Given the description of an element on the screen output the (x, y) to click on. 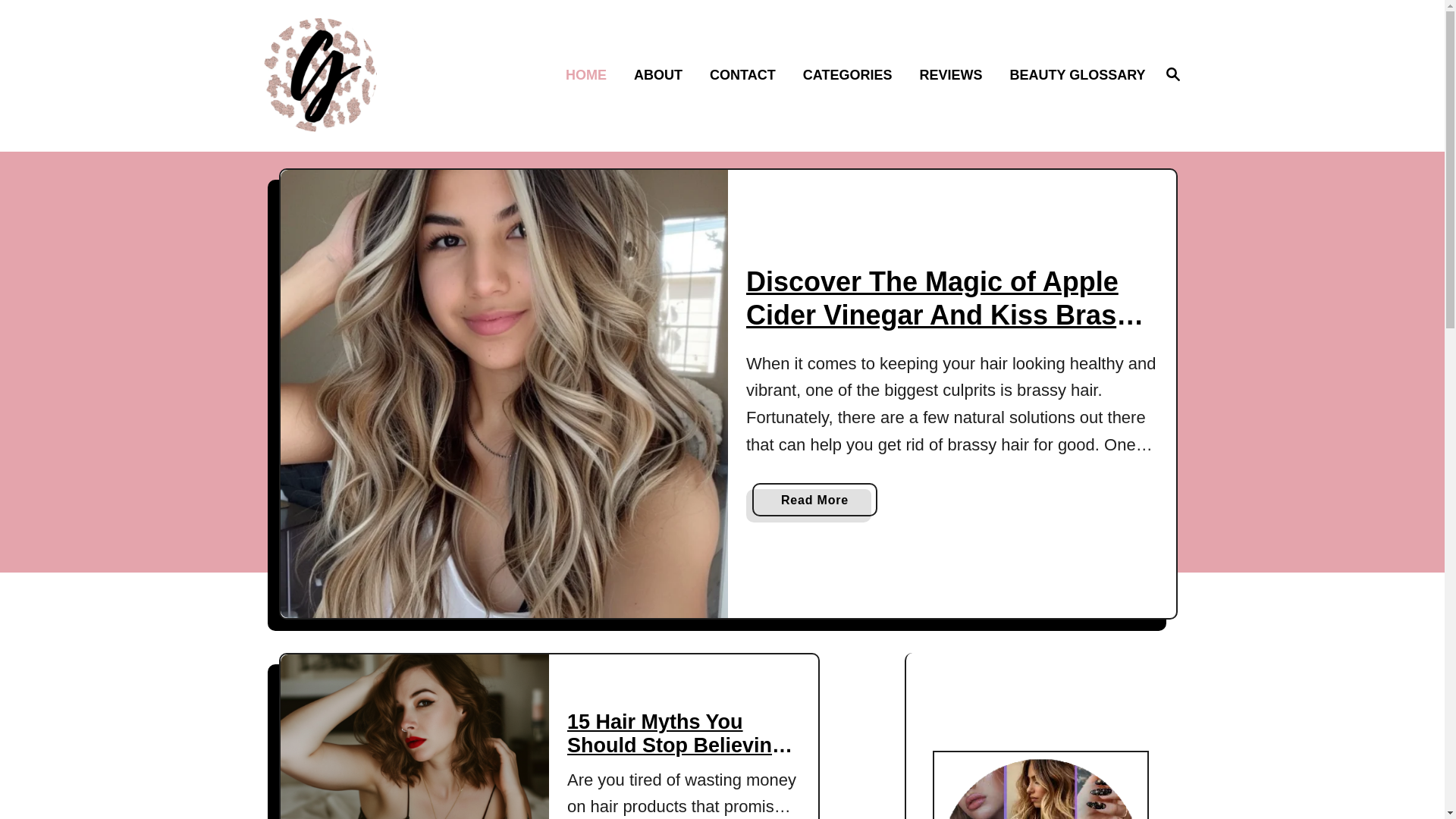
REVIEWS (955, 75)
CONTACT (746, 75)
BEAUTY GLOSSARY (1072, 75)
HOME (590, 75)
CATEGORIES (852, 75)
Gemma Etc. (371, 74)
15 Hair Myths You Should Stop Believing Right Now! (679, 744)
